Given the description of an element on the screen output the (x, y) to click on. 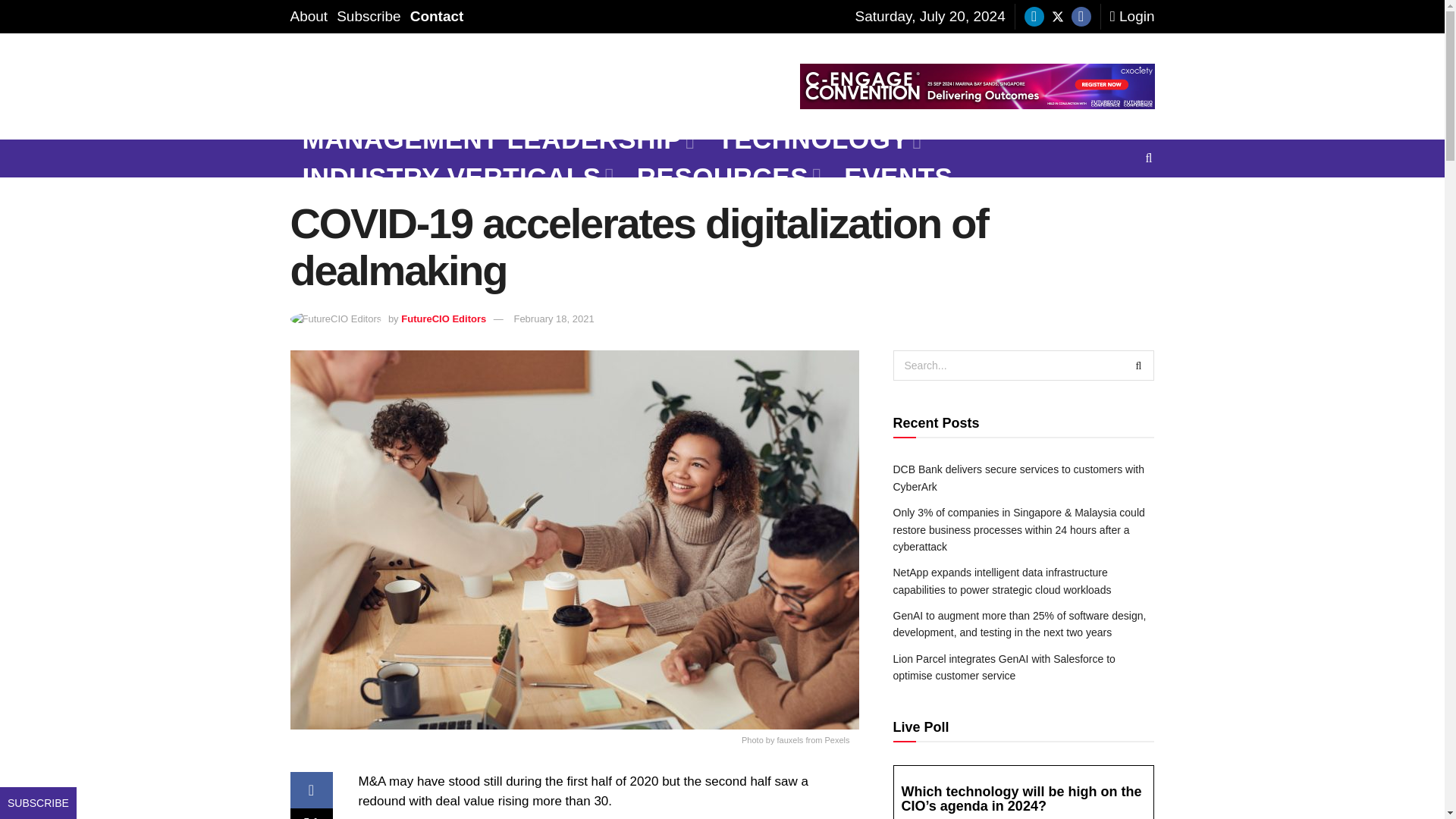
MANAGEMENT LEADERSHIP (496, 139)
TECHNOLOGY (817, 139)
RESOURCES (728, 177)
About (308, 16)
Login (1131, 16)
Subscribe (368, 16)
EVENTS (897, 177)
Contact (437, 16)
INDUSTRY VERTICALS (456, 177)
